Given the description of an element on the screen output the (x, y) to click on. 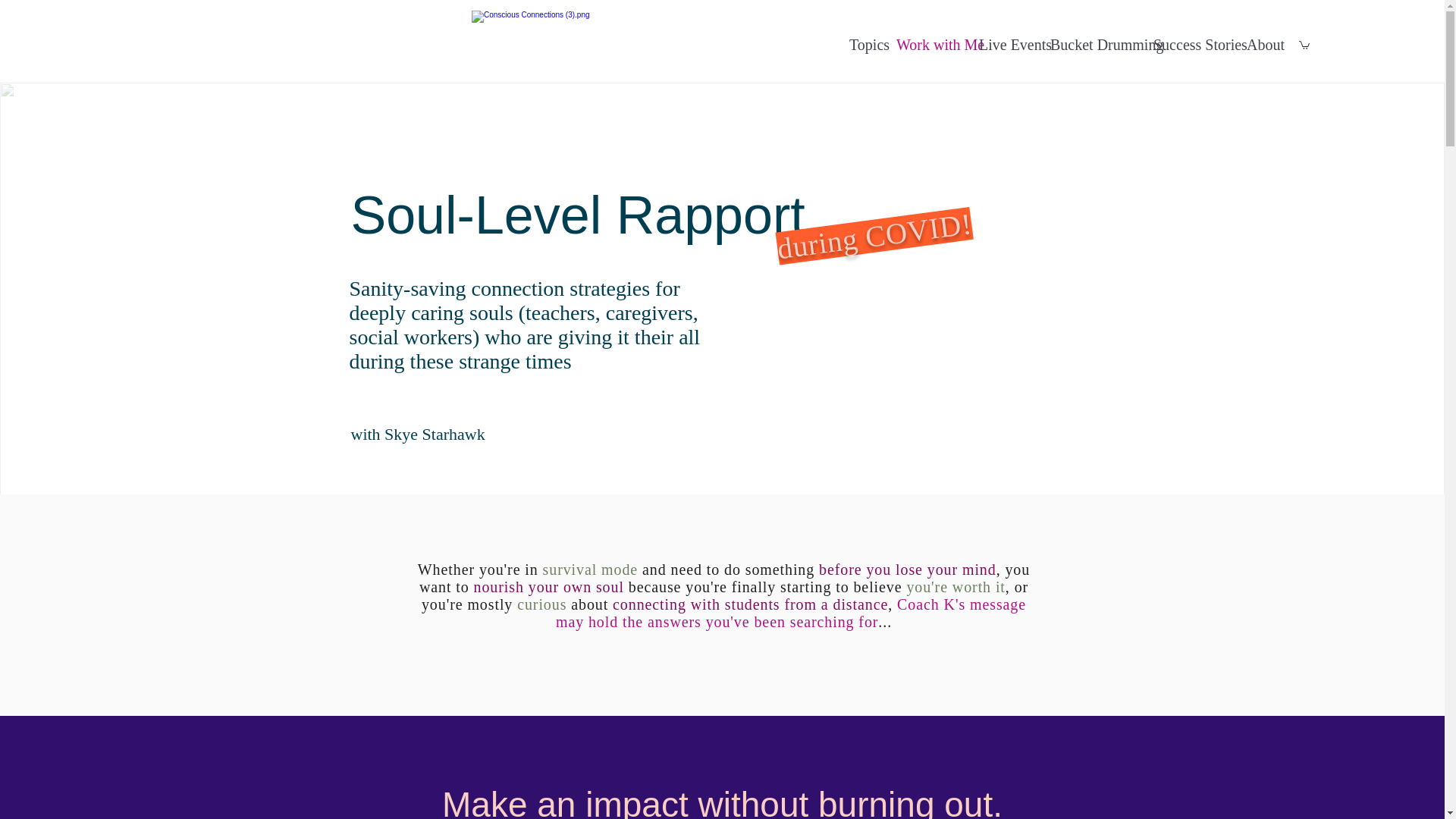
Bucket Drumming (1093, 44)
Live Events (1006, 44)
Work with Me (929, 44)
Success Stories (1192, 44)
Topics (864, 44)
About (1261, 44)
